Given the description of an element on the screen output the (x, y) to click on. 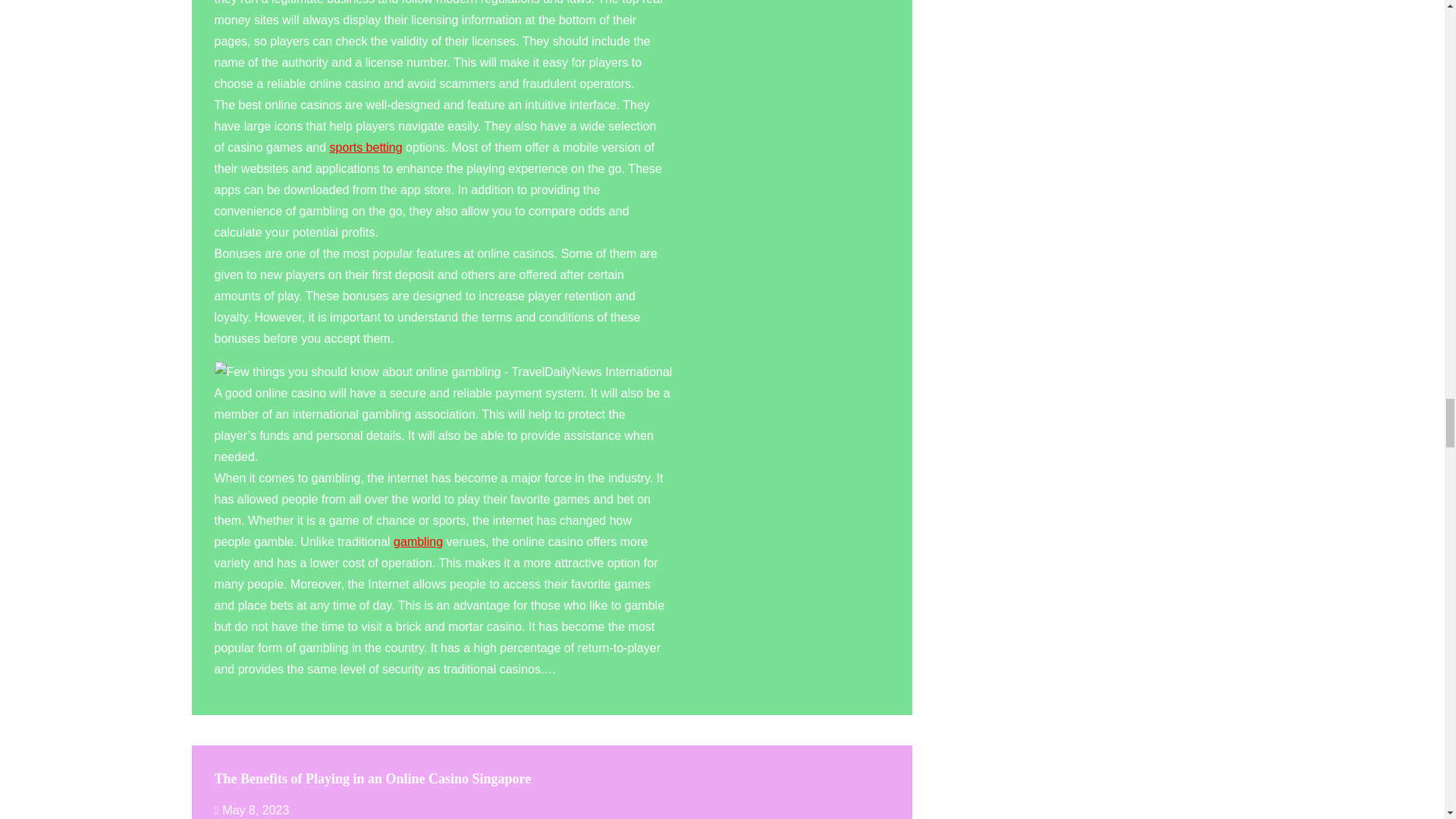
The Benefits of Playing in an Online Casino Singapore (372, 778)
sports betting (366, 146)
gambling (417, 541)
